Given the description of an element on the screen output the (x, y) to click on. 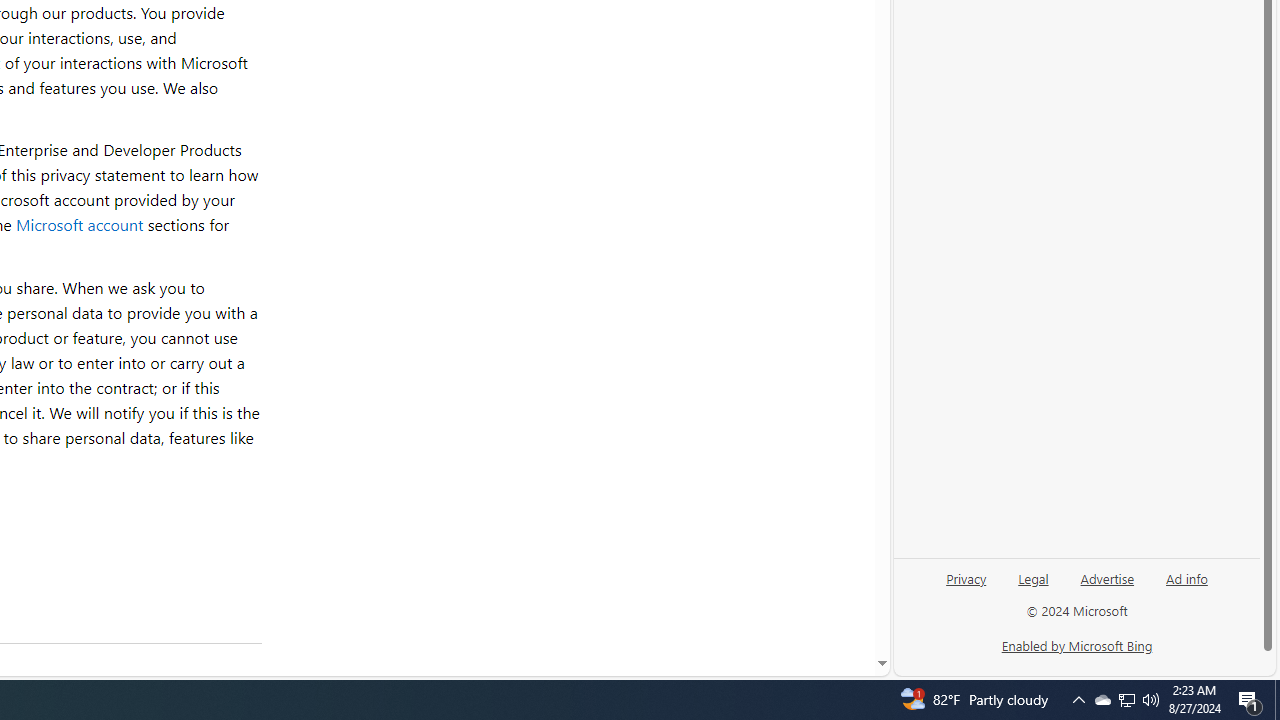
Microsoft account (79, 224)
